Given the description of an element on the screen output the (x, y) to click on. 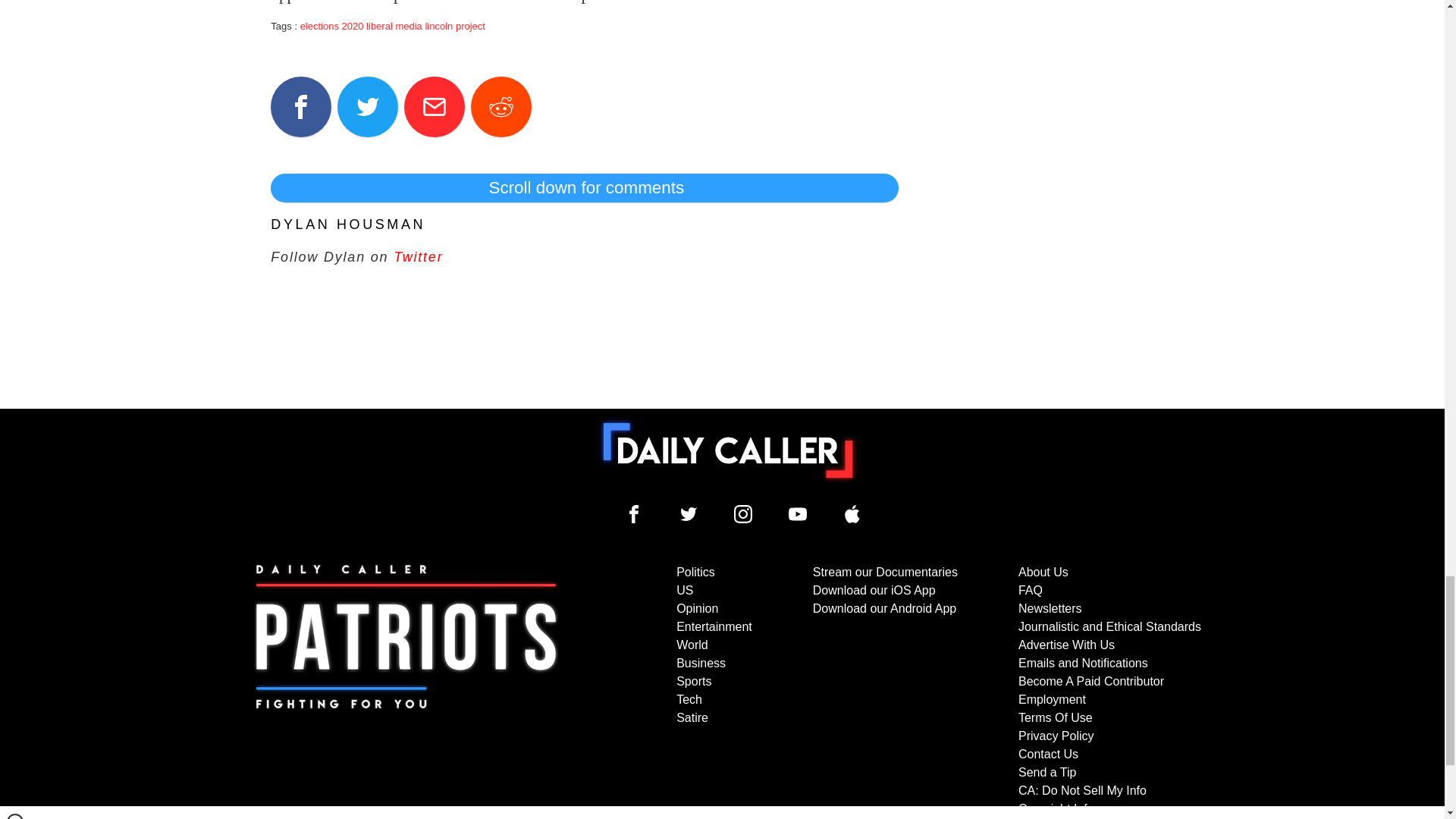
Daily Caller Facebook (633, 514)
To home page (727, 450)
Daily Caller Instagram (742, 514)
Subscribe to The Daily Caller (405, 690)
Scroll down for comments (584, 187)
Daily Caller Twitter (688, 514)
Daily Caller YouTube (797, 514)
Daily Caller YouTube (852, 514)
